Given the description of an element on the screen output the (x, y) to click on. 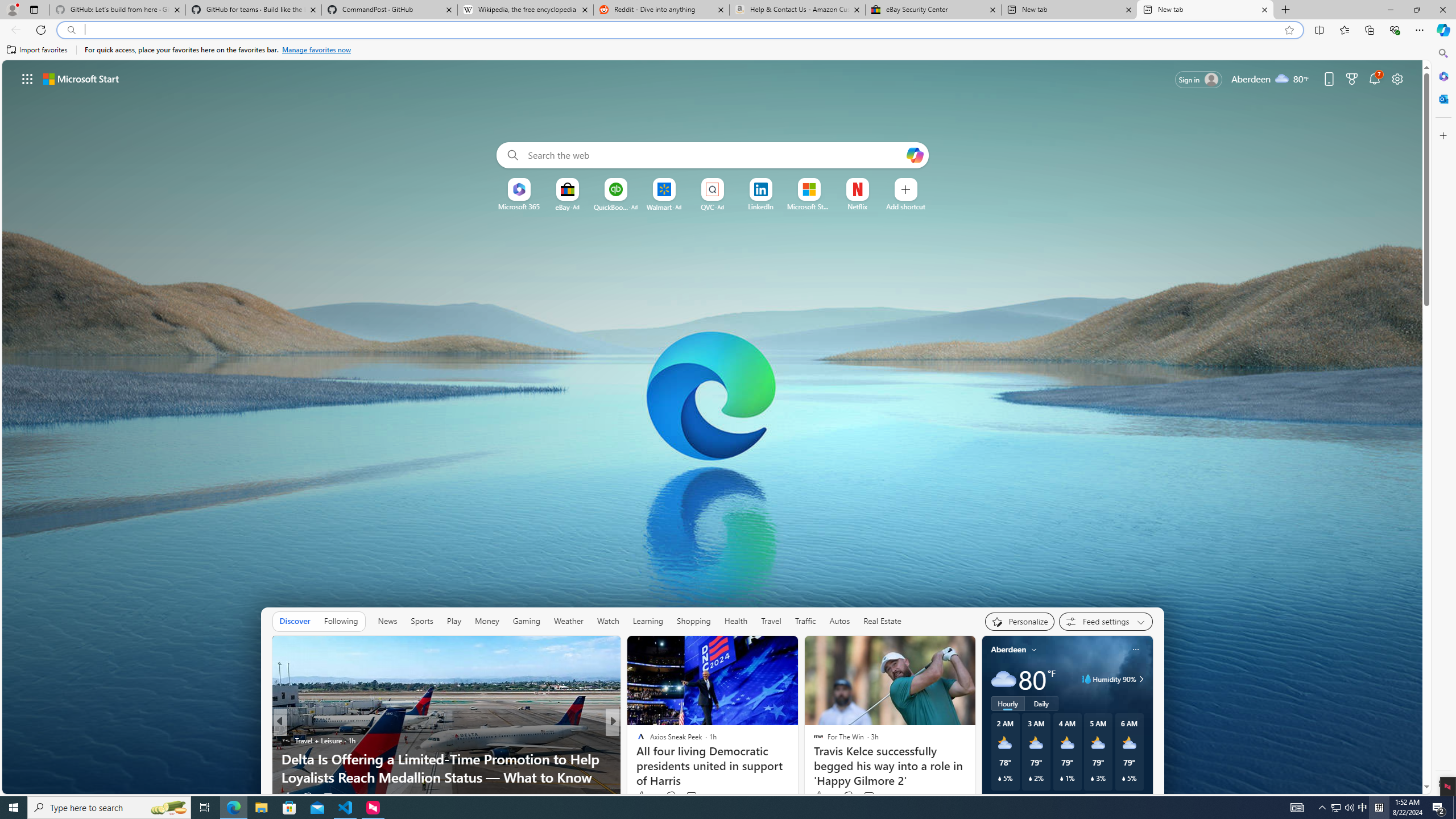
Cloudy (1003, 678)
Gaming (526, 621)
eBay Security Center (933, 9)
Enter your search term (714, 155)
Gaming (526, 621)
California braces for possible ultra-rare August snow (796, 777)
